Given the description of an element on the screen output the (x, y) to click on. 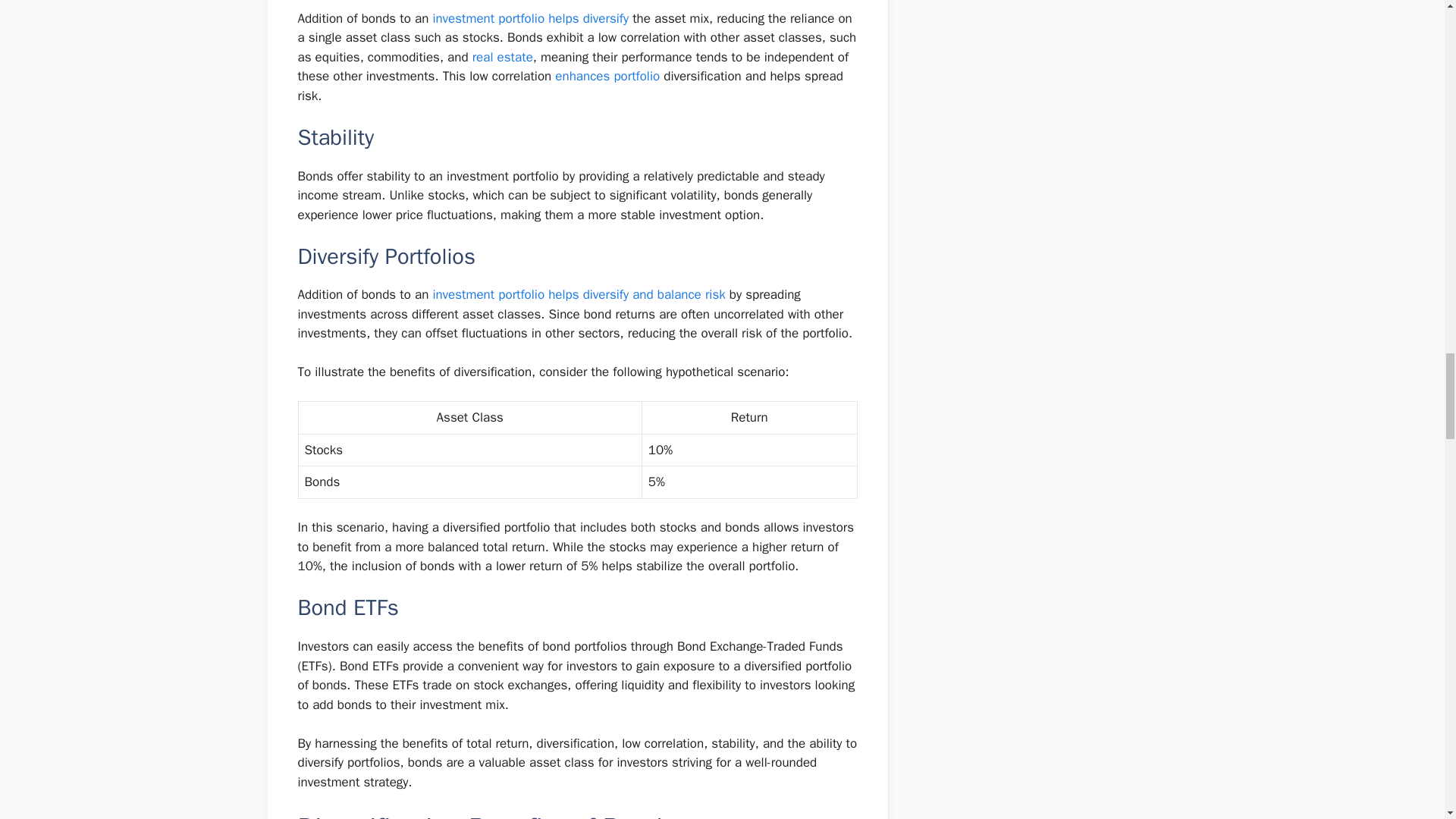
investment portfolio helps diversify and balance risk (578, 294)
real estate (501, 57)
investment portfolio helps diversify (530, 18)
enhances portfolio (606, 75)
